Given the description of an element on the screen output the (x, y) to click on. 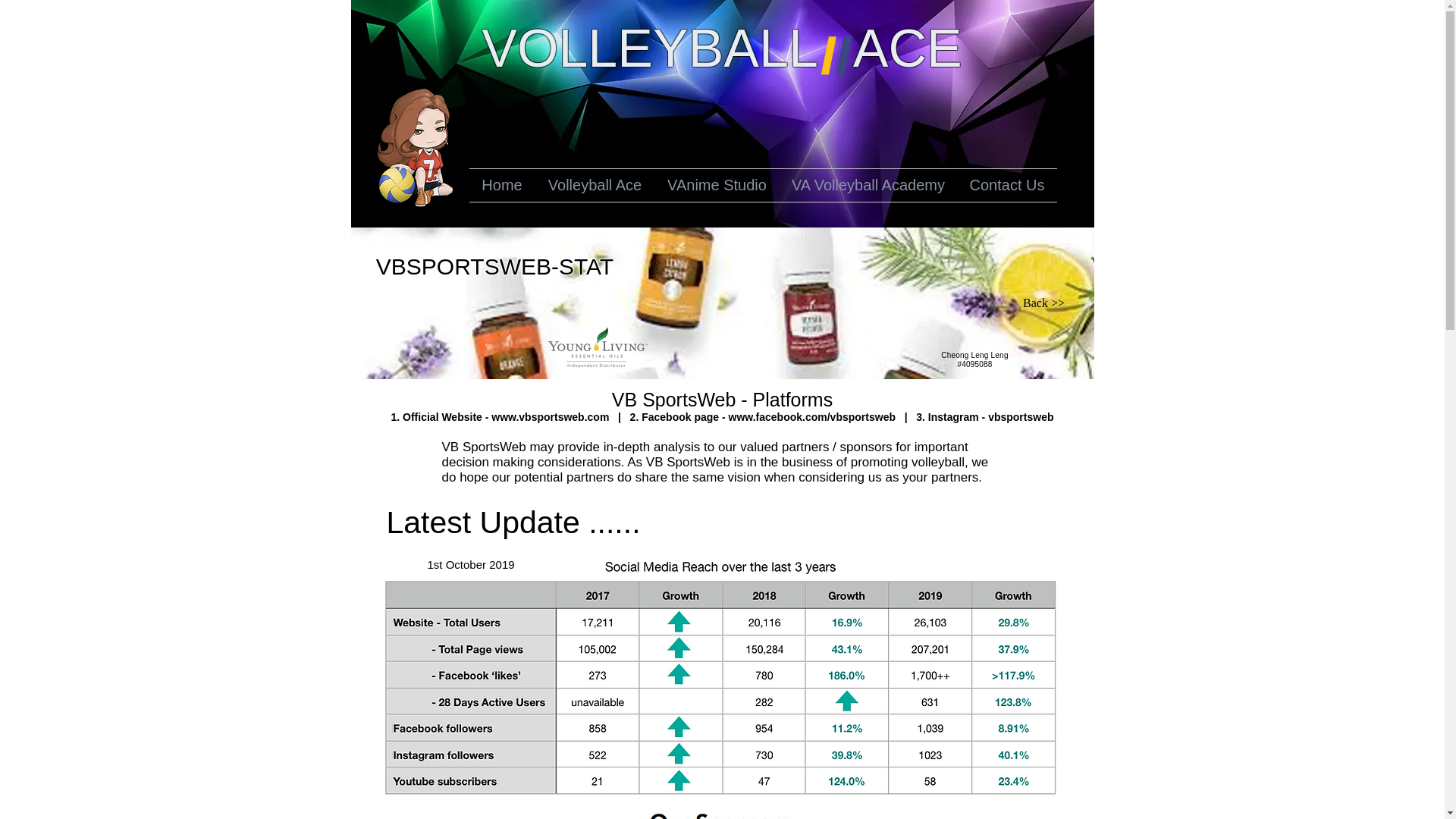
Home (501, 184)
VAnime Studio (716, 184)
VA Volleyball Academy (868, 184)
www.vbsportsweb.com (550, 417)
Volleyball Ace (595, 184)
Facebook Like (1010, 565)
Contact Us (1006, 184)
